Given the description of an element on the screen output the (x, y) to click on. 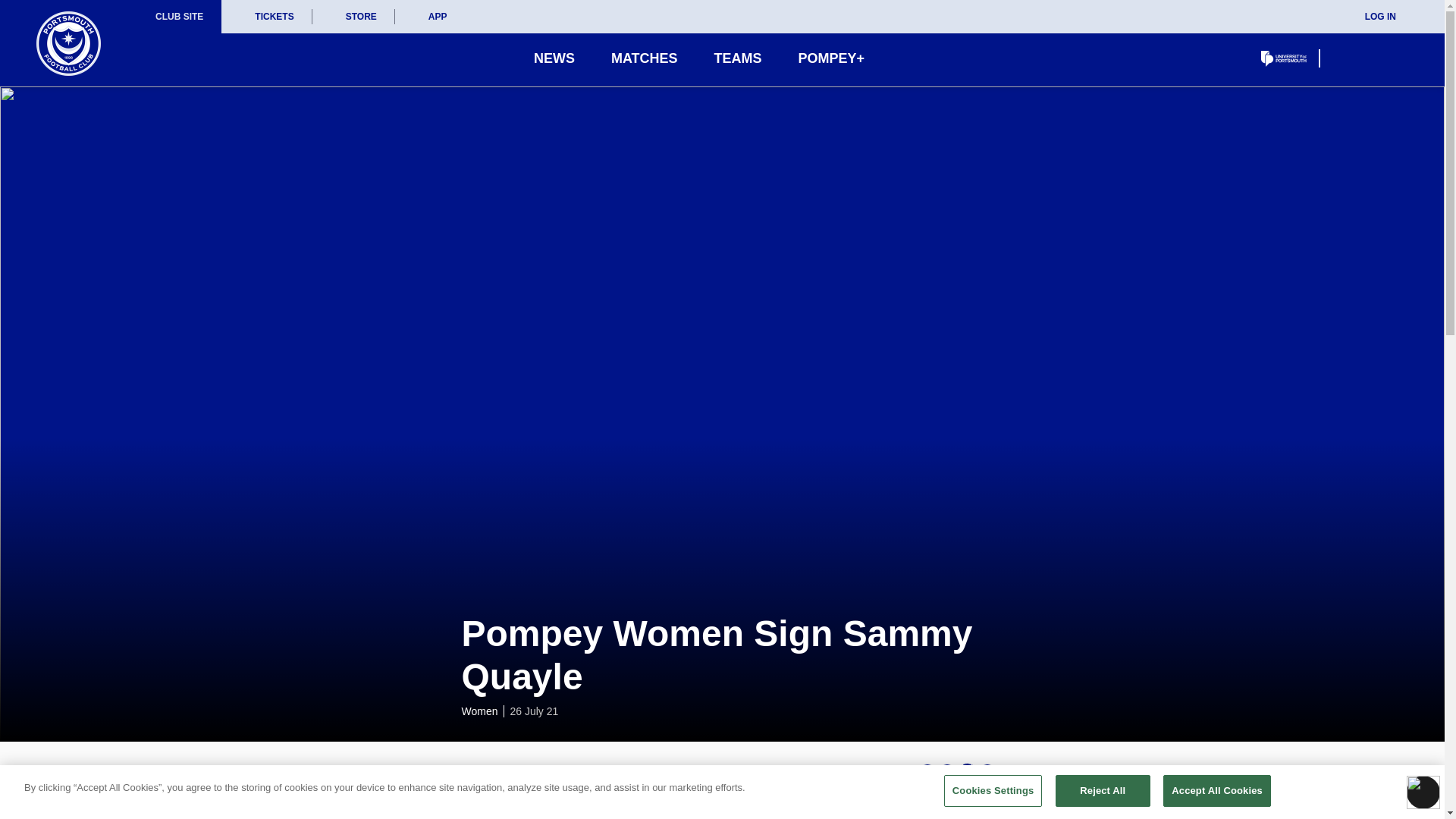
Cookies Settings (992, 790)
MATCHES (644, 58)
TICKETS (266, 16)
Accessibility Menu (1422, 792)
Reject All (1102, 790)
CLUB SITE (178, 16)
Accept All Cookies (1217, 790)
TEAMS (737, 58)
LOG IN (1369, 16)
APP (429, 16)
